Given the description of an element on the screen output the (x, y) to click on. 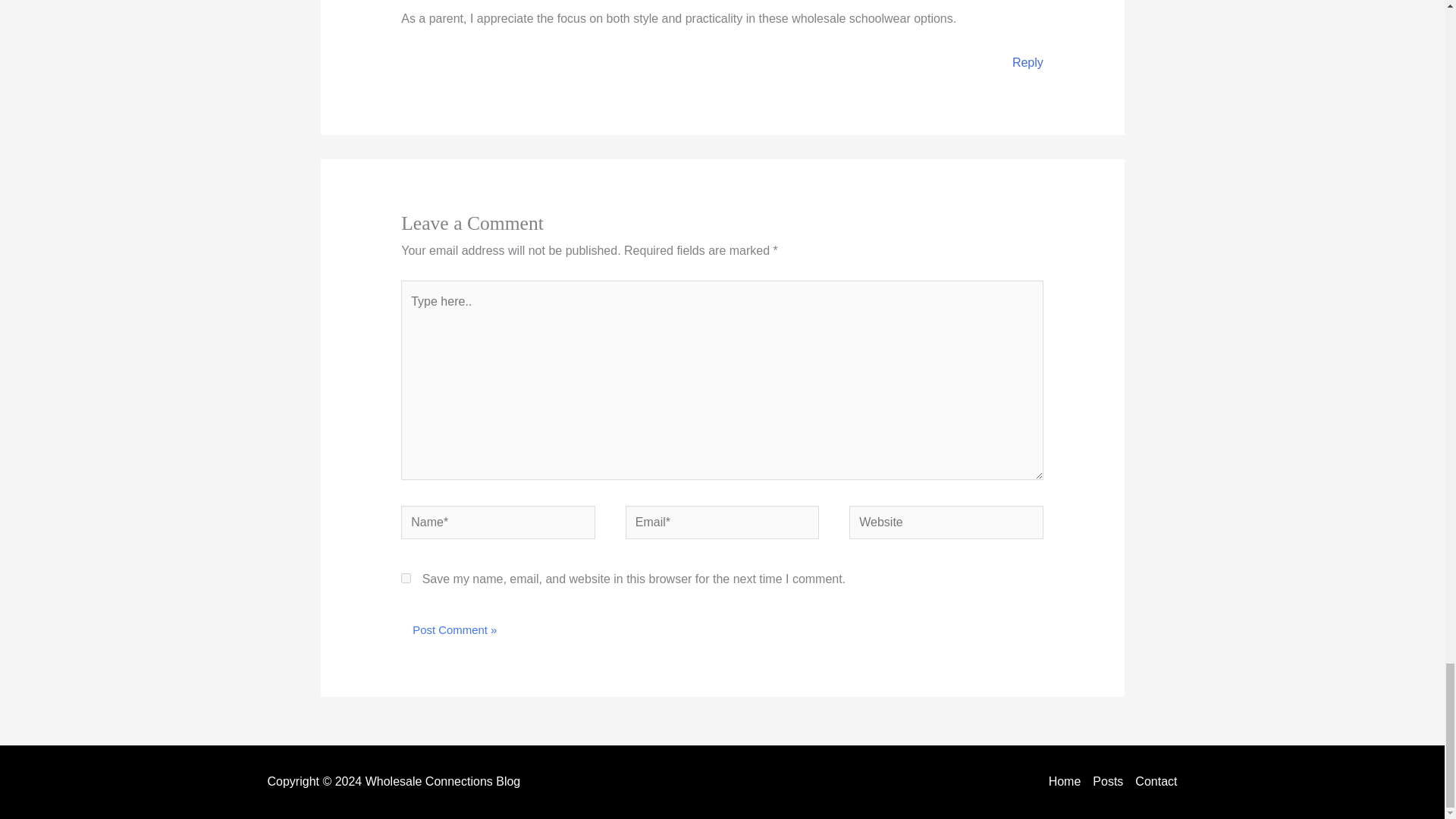
yes (405, 578)
Posts (1107, 781)
Contact (1152, 781)
Reply (1027, 62)
Home (1067, 781)
